Given the description of an element on the screen output the (x, y) to click on. 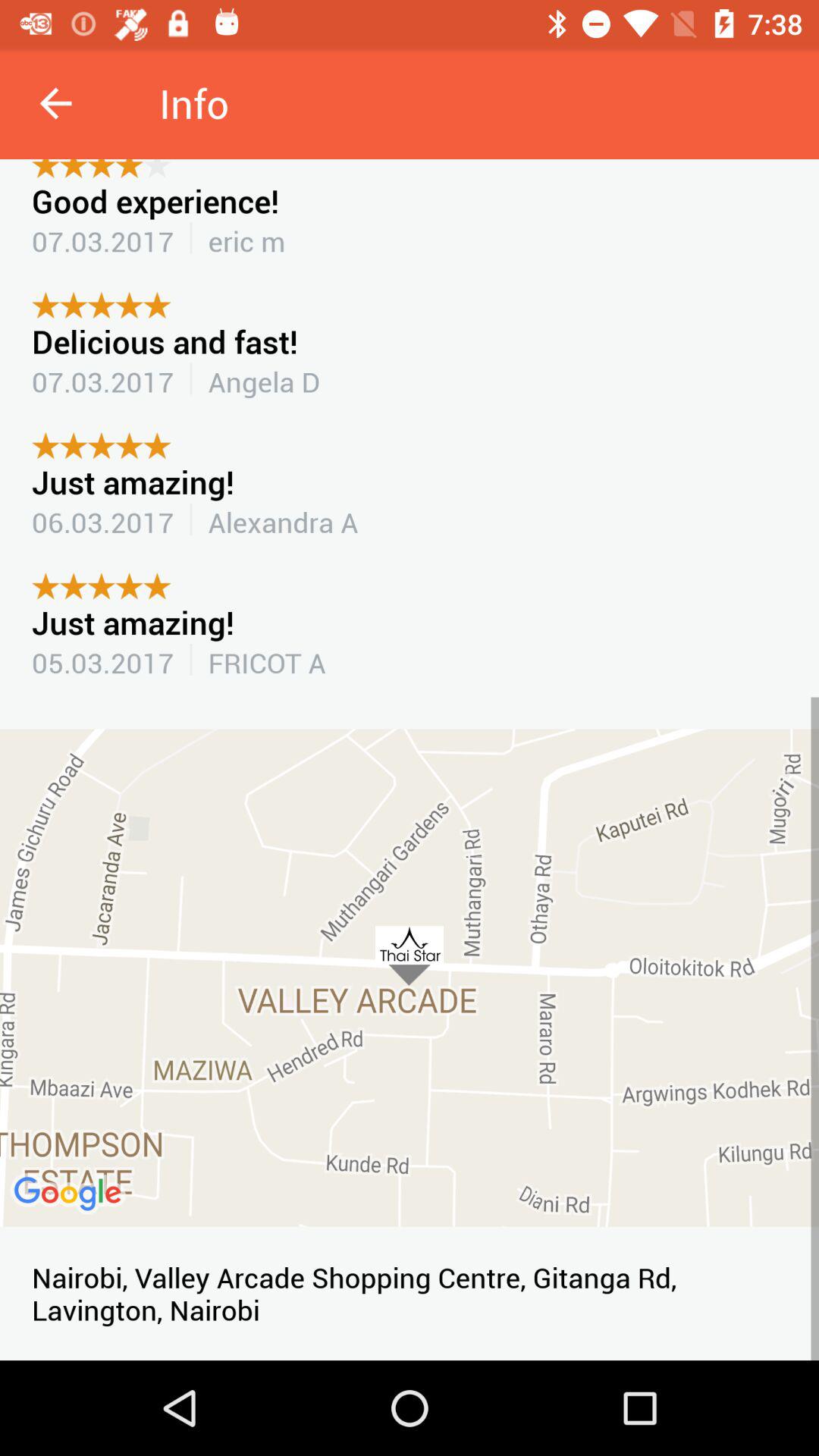
press icon to the left of info item (55, 103)
